Given the description of an element on the screen output the (x, y) to click on. 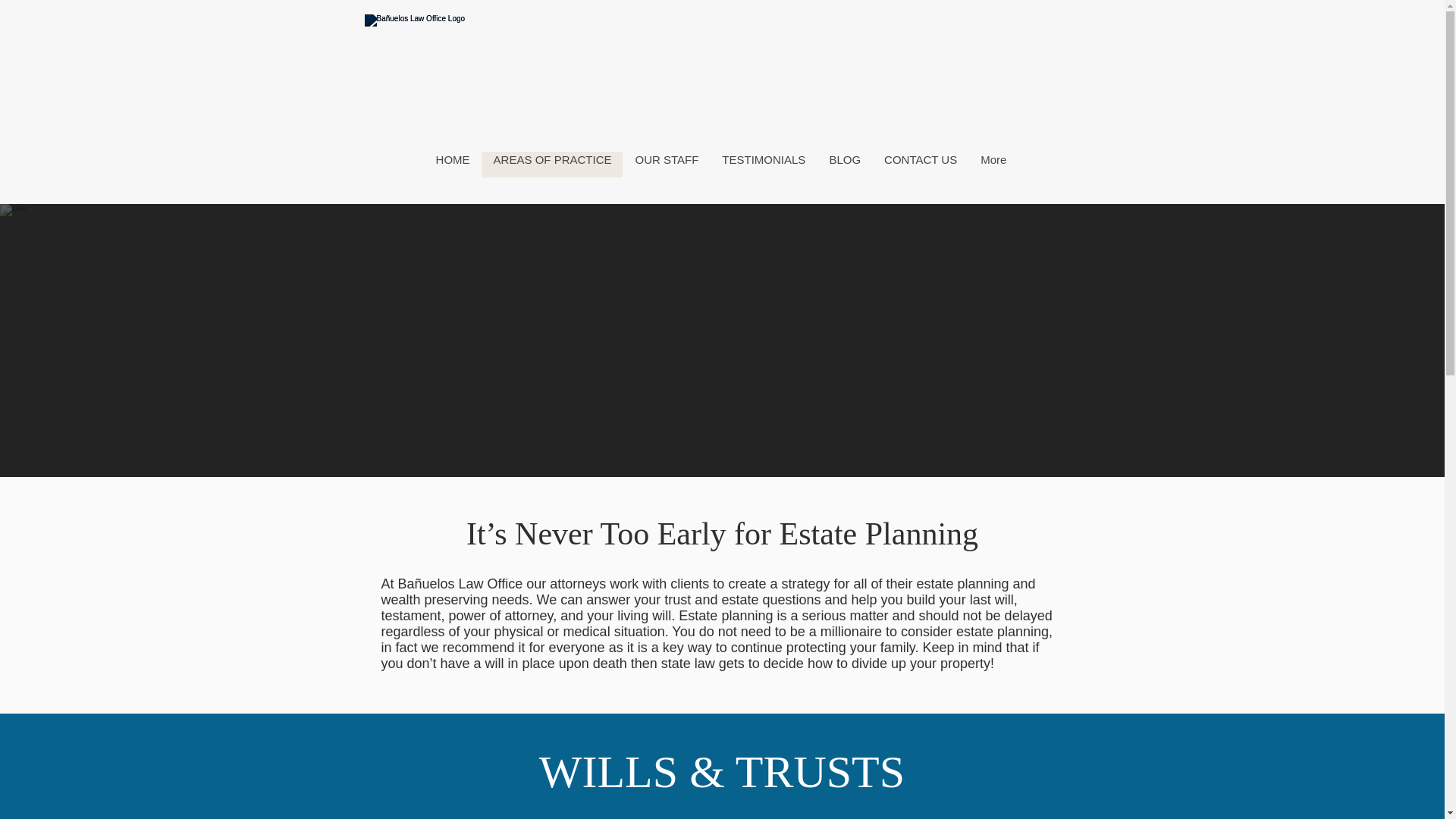
CONTACT US (920, 164)
HOME (453, 164)
OUR STAFF (666, 164)
AREAS OF PRACTICE (552, 164)
TESTIMONIALS (763, 164)
BLOG (844, 164)
